Given the description of an element on the screen output the (x, y) to click on. 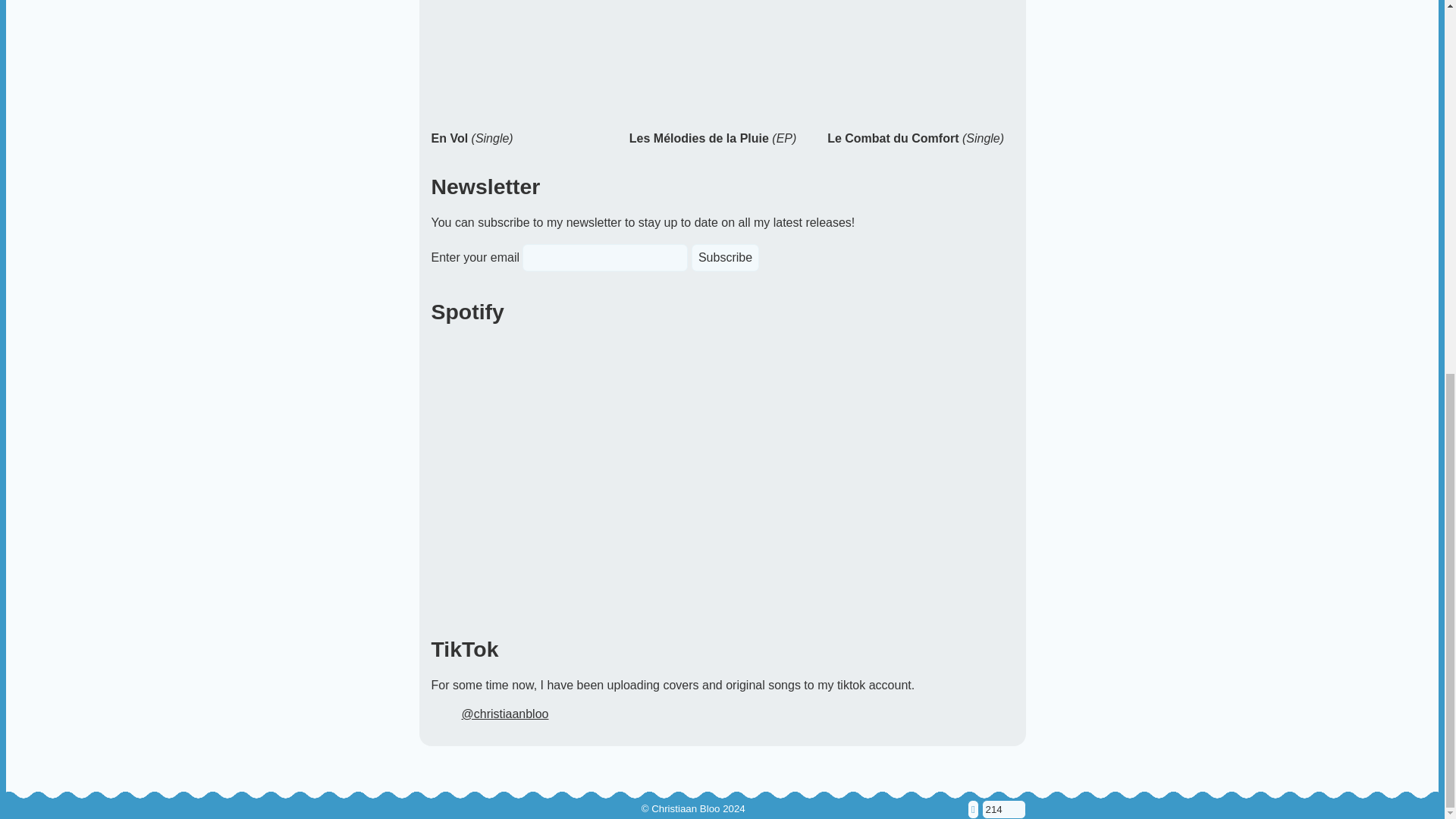
214 (1003, 123)
Subscribe (724, 257)
Subscribe (724, 257)
